Given the description of an element on the screen output the (x, y) to click on. 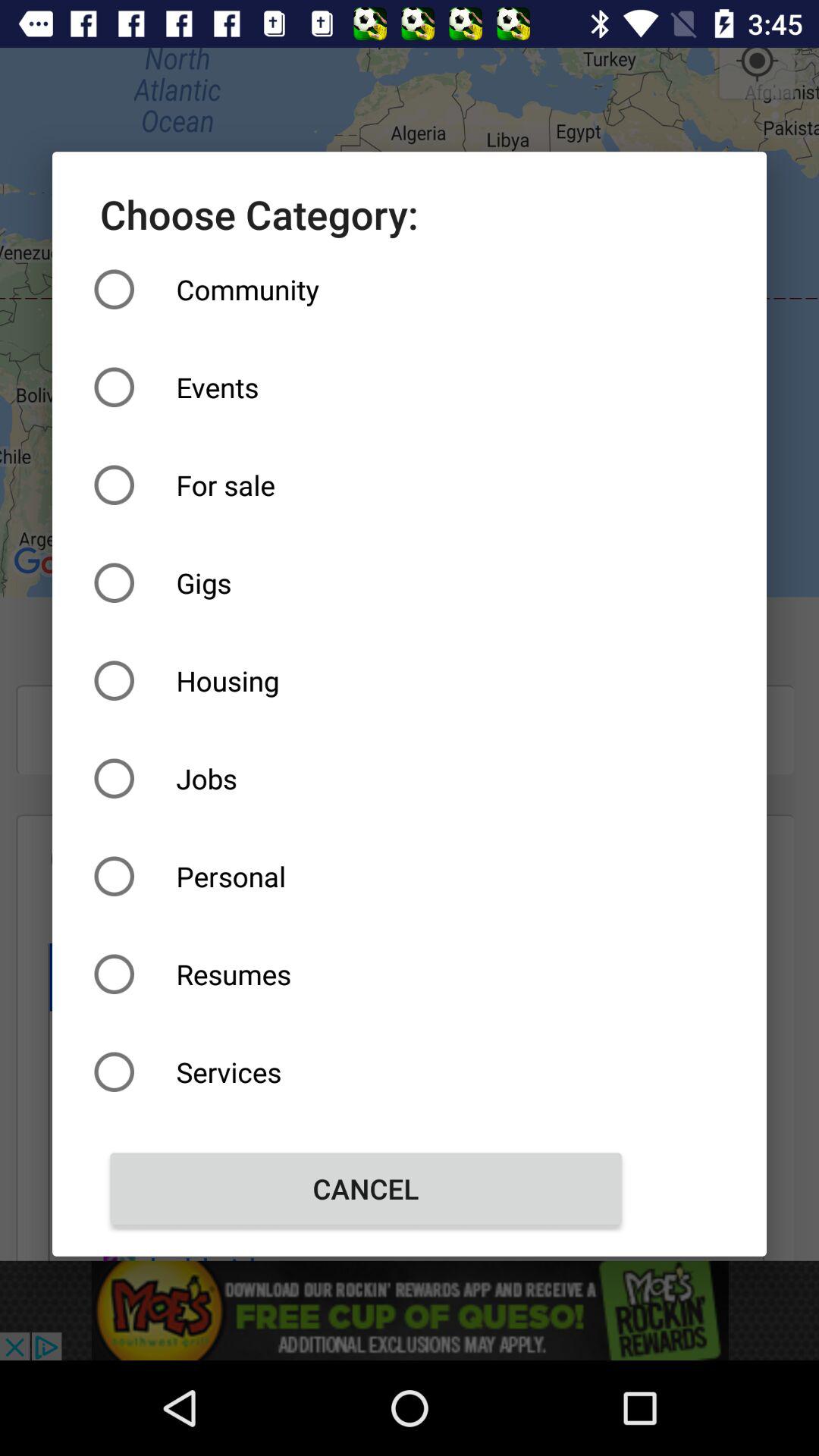
press icon above the for sale item (365, 387)
